Given the description of an element on the screen output the (x, y) to click on. 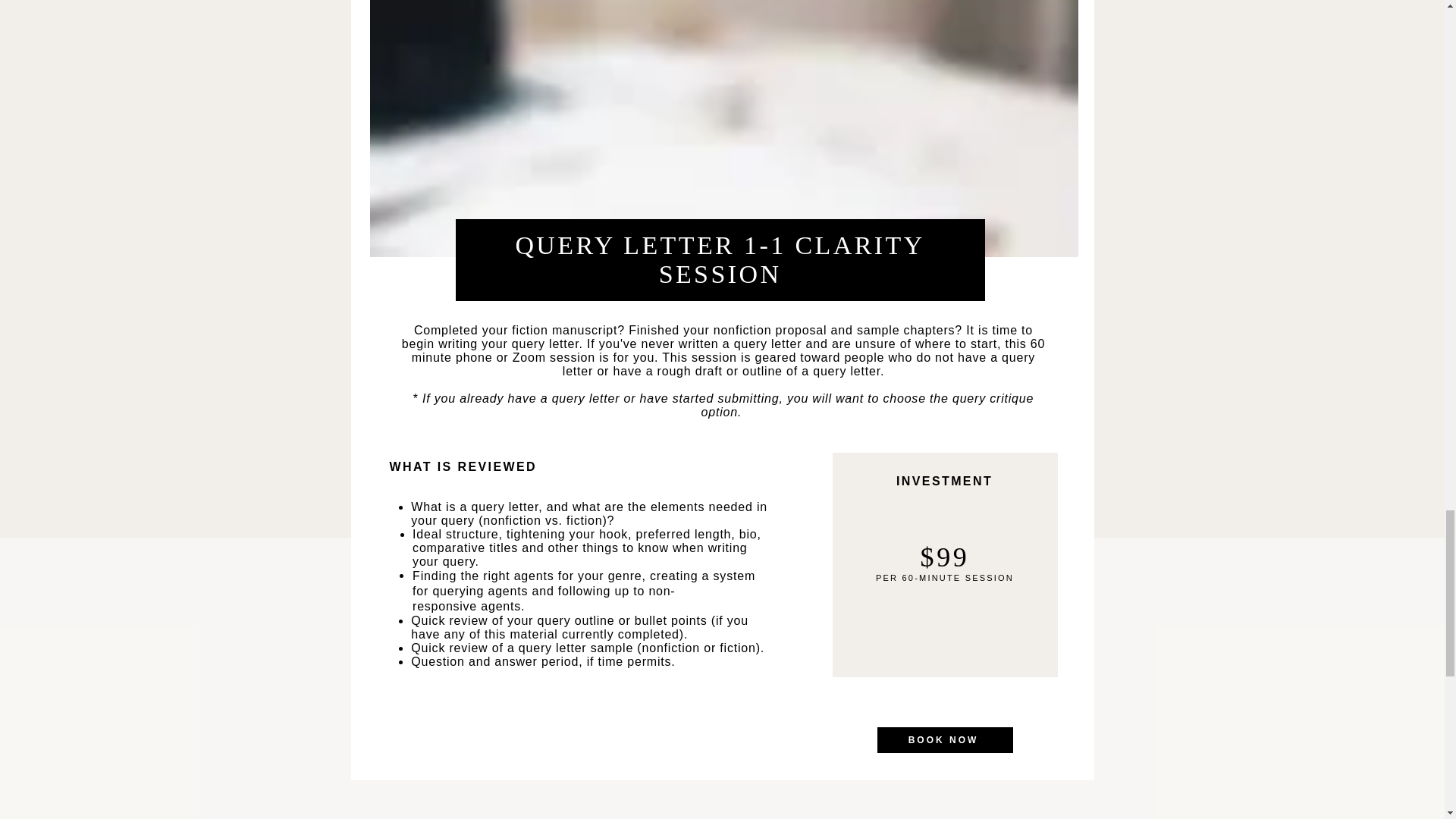
BOOK NOW (943, 739)
